Given the description of an element on the screen output the (x, y) to click on. 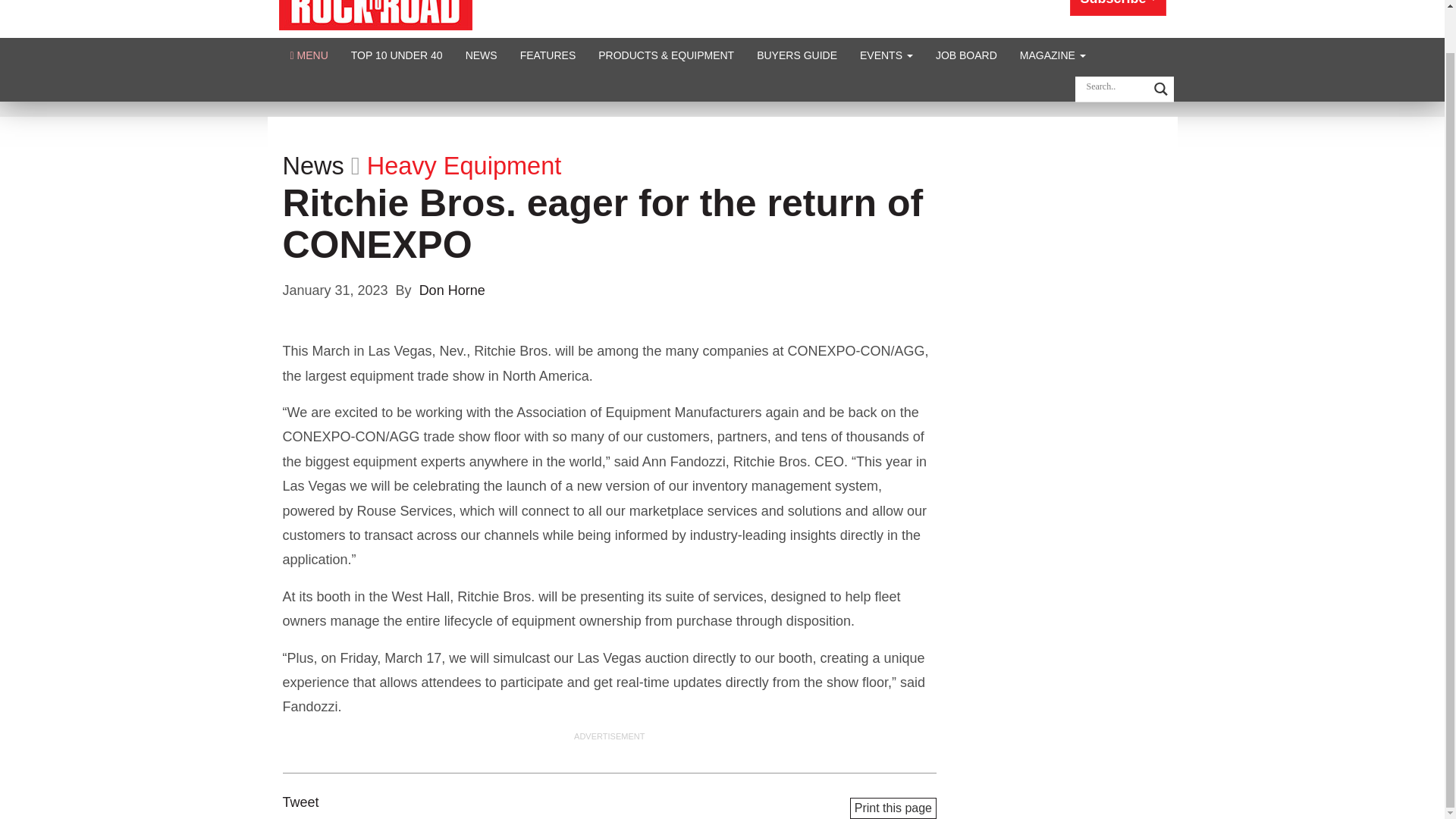
JOB BOARD (966, 54)
MAGAZINE (1053, 54)
Click to show site navigation (309, 54)
EVENTS (886, 54)
Rock to Road (375, 5)
NEWS (481, 54)
BUYERS GUIDE (796, 54)
TOP 10 UNDER 40 (396, 54)
FEATURES (548, 54)
MENU (309, 54)
Subscribe (1118, 7)
